Given the description of an element on the screen output the (x, y) to click on. 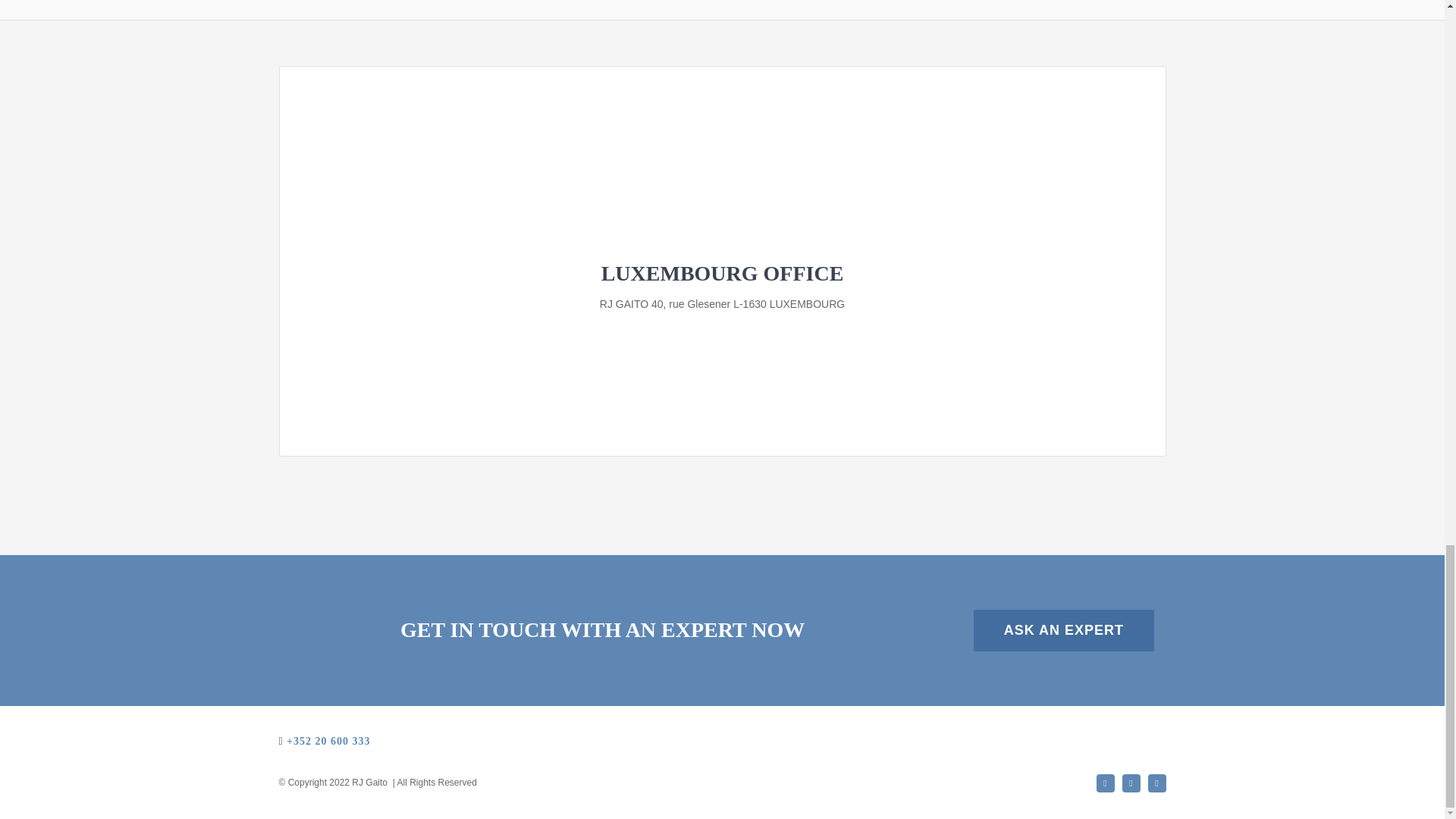
ASK AN EXPERT (1064, 630)
